Given the description of an element on the screen output the (x, y) to click on. 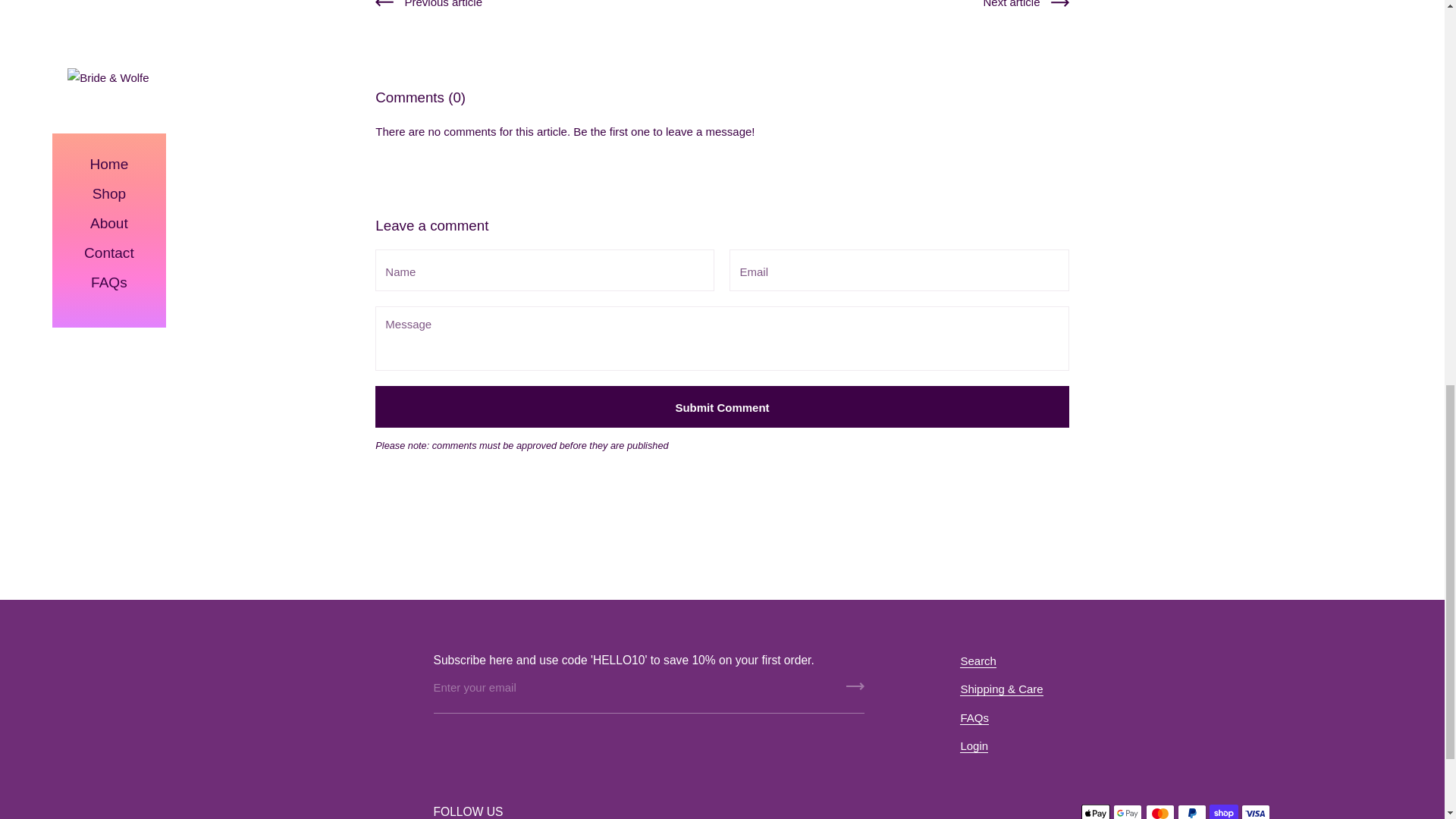
Next article (1025, 8)
Login (973, 745)
Search (977, 661)
Previous article (428, 8)
Submit Comment (721, 406)
Shop Pay (1224, 811)
Next article (1025, 8)
PayPal (1192, 811)
FAQs (973, 717)
Previous article (428, 8)
